Given the description of an element on the screen output the (x, y) to click on. 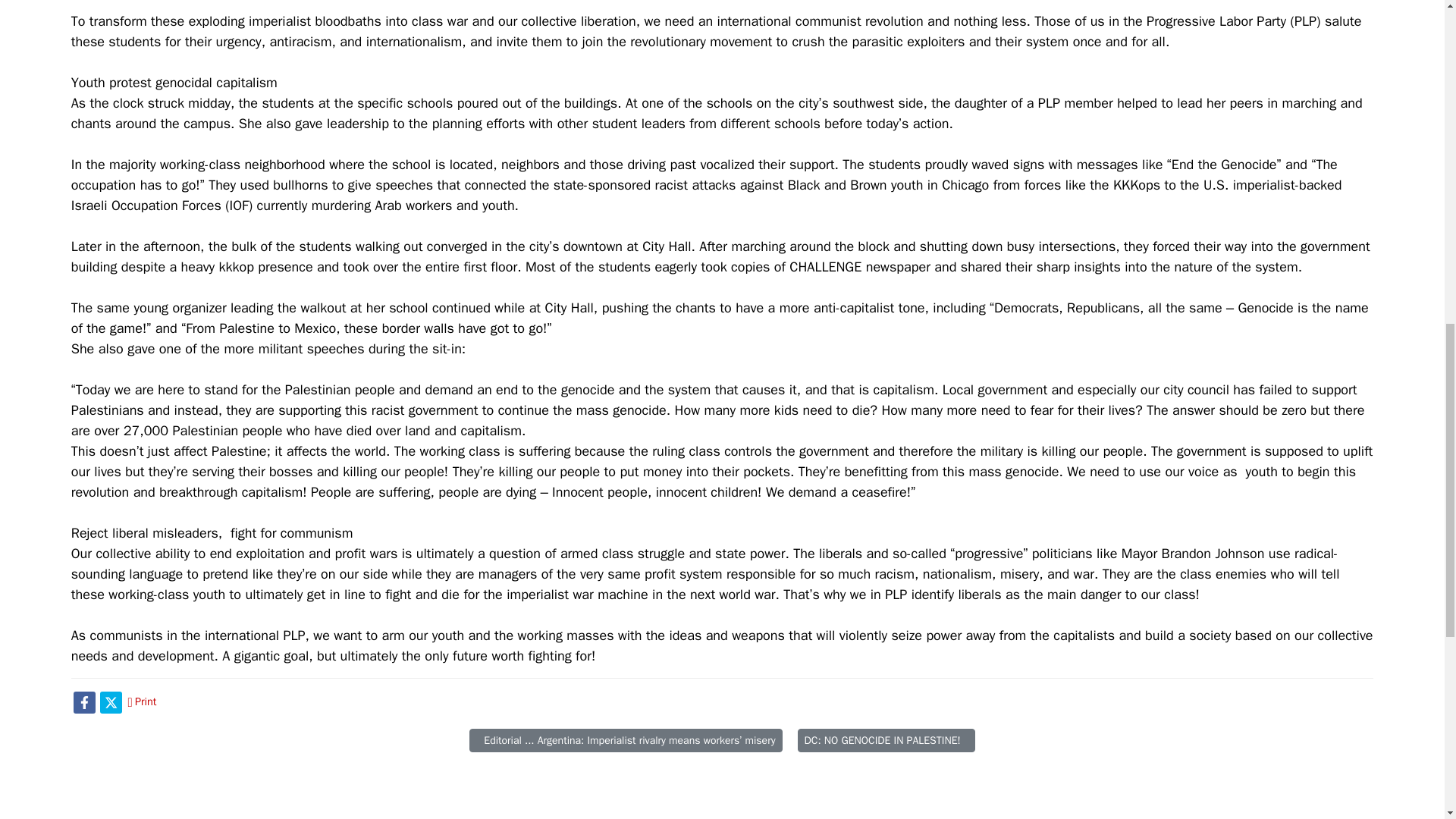
Share with X-Twitter (111, 701)
Print (142, 701)
Print (142, 701)
Share with Facebook (85, 701)
